Given the description of an element on the screen output the (x, y) to click on. 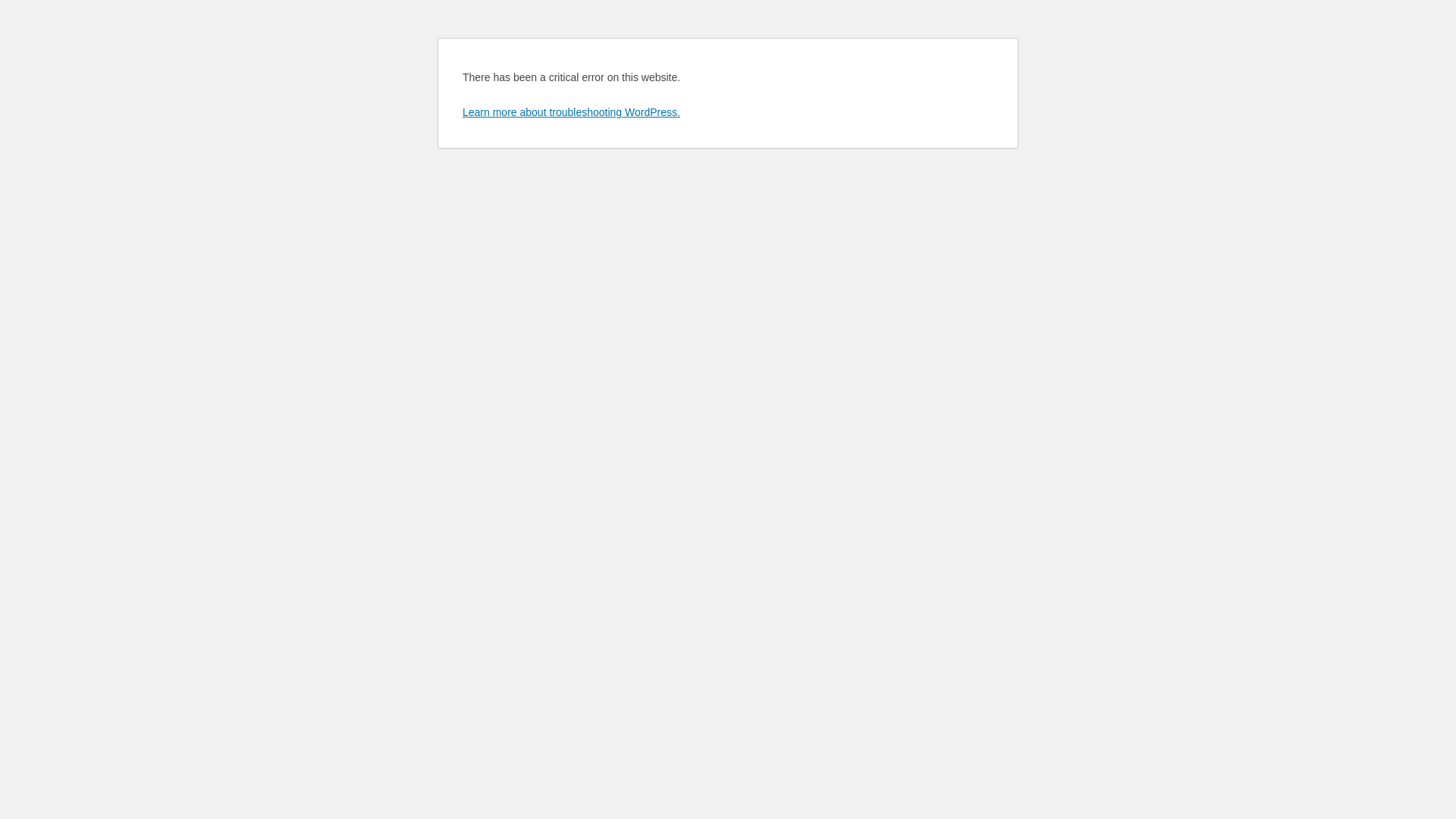
Learn more about troubleshooting WordPress. Element type: text (571, 112)
